Given the description of an element on the screen output the (x, y) to click on. 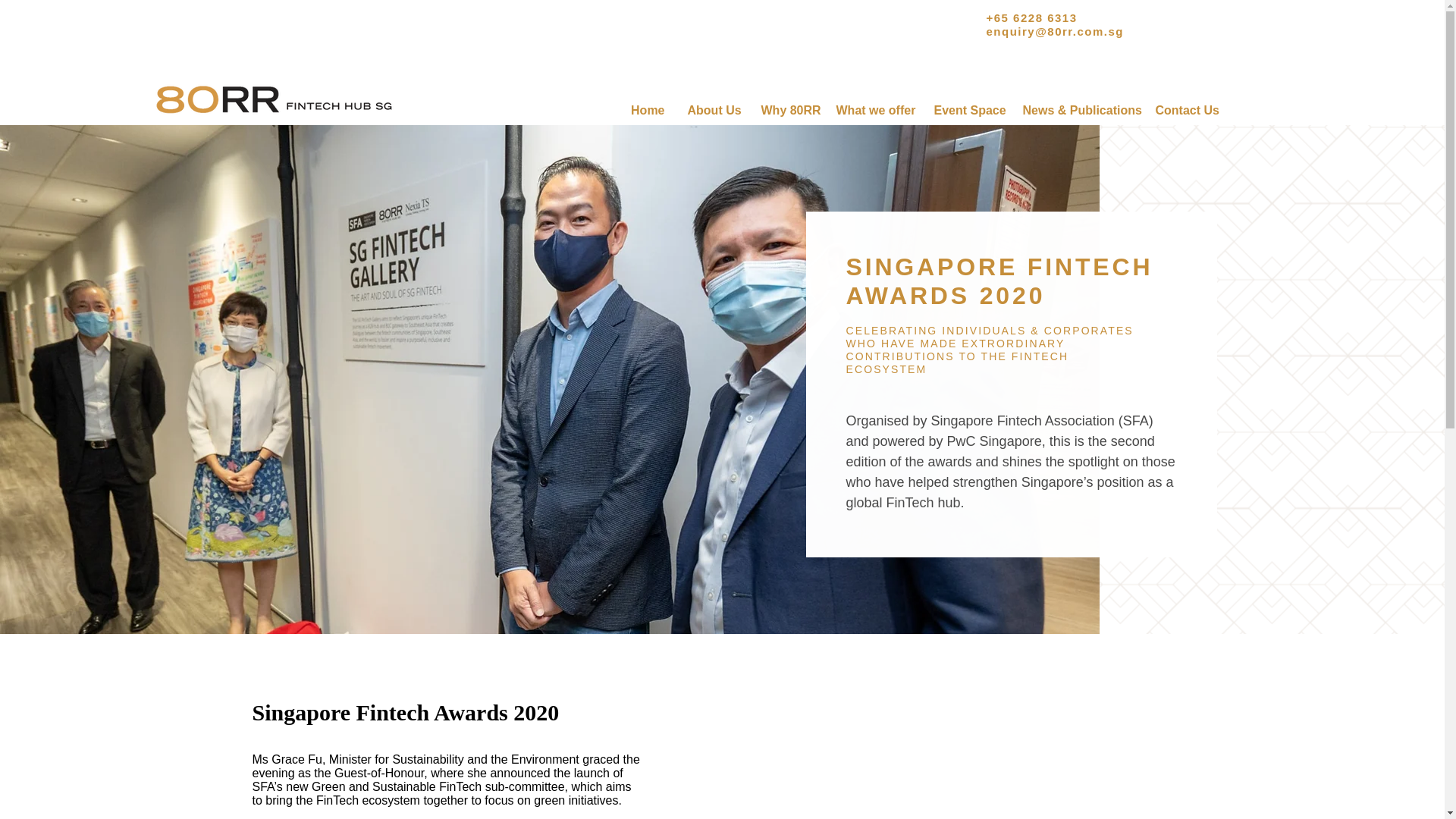
Event Space (965, 109)
About Us (713, 109)
Contact Us (1183, 109)
Grace Fu (295, 758)
Why 80RR (786, 109)
Home (646, 109)
PwC Singapore (994, 441)
What we offer (874, 109)
